Given the description of an element on the screen output the (x, y) to click on. 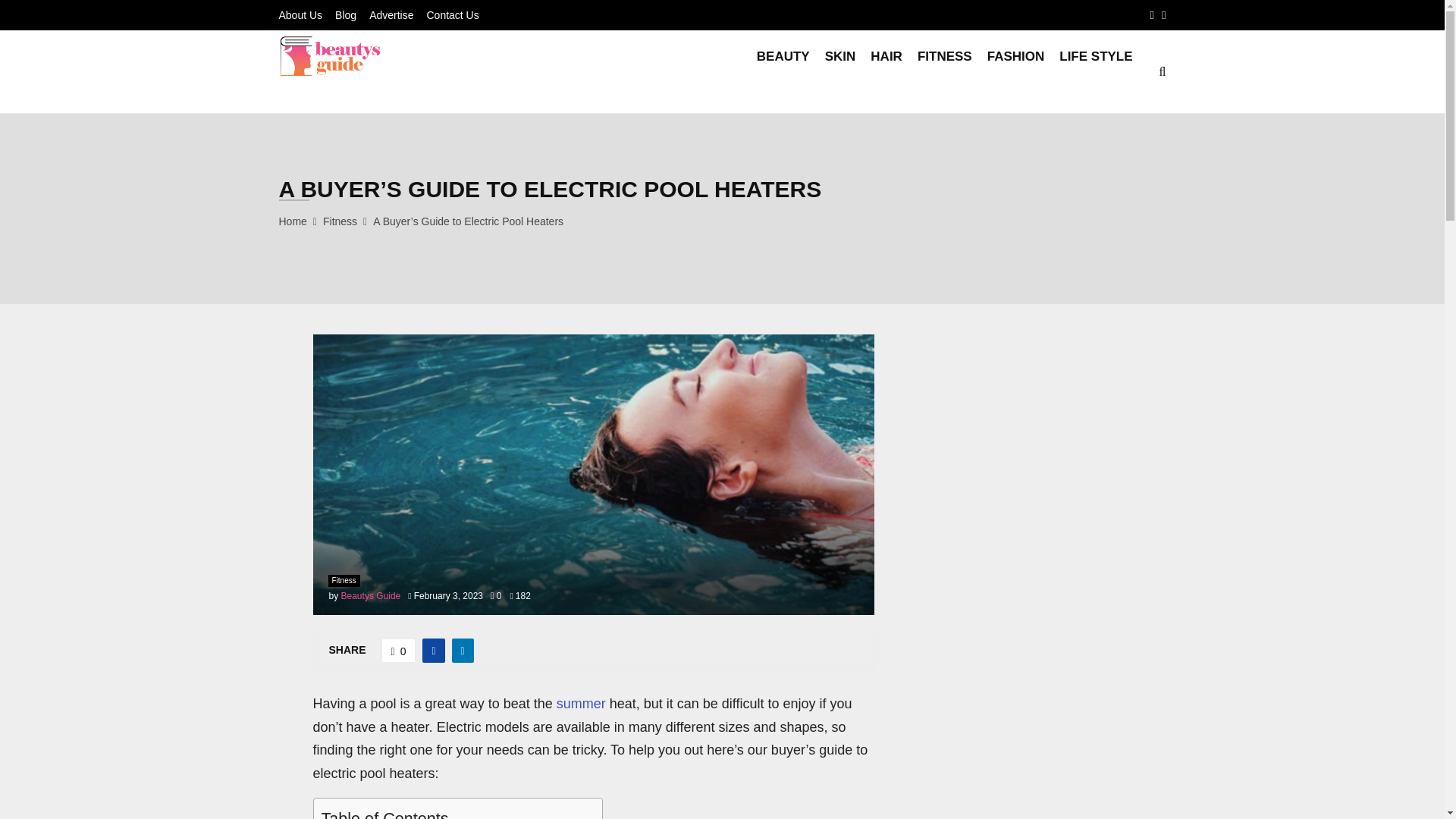
summer (580, 703)
Beautys Guide (370, 595)
0 (495, 595)
Contact Us (452, 15)
Fitness (343, 580)
About Us (301, 15)
Fitness (339, 221)
Home (293, 221)
0 (398, 650)
LIFE STYLE (1095, 71)
Blog (345, 15)
Like (398, 650)
Advertise (391, 15)
